Given the description of an element on the screen output the (x, y) to click on. 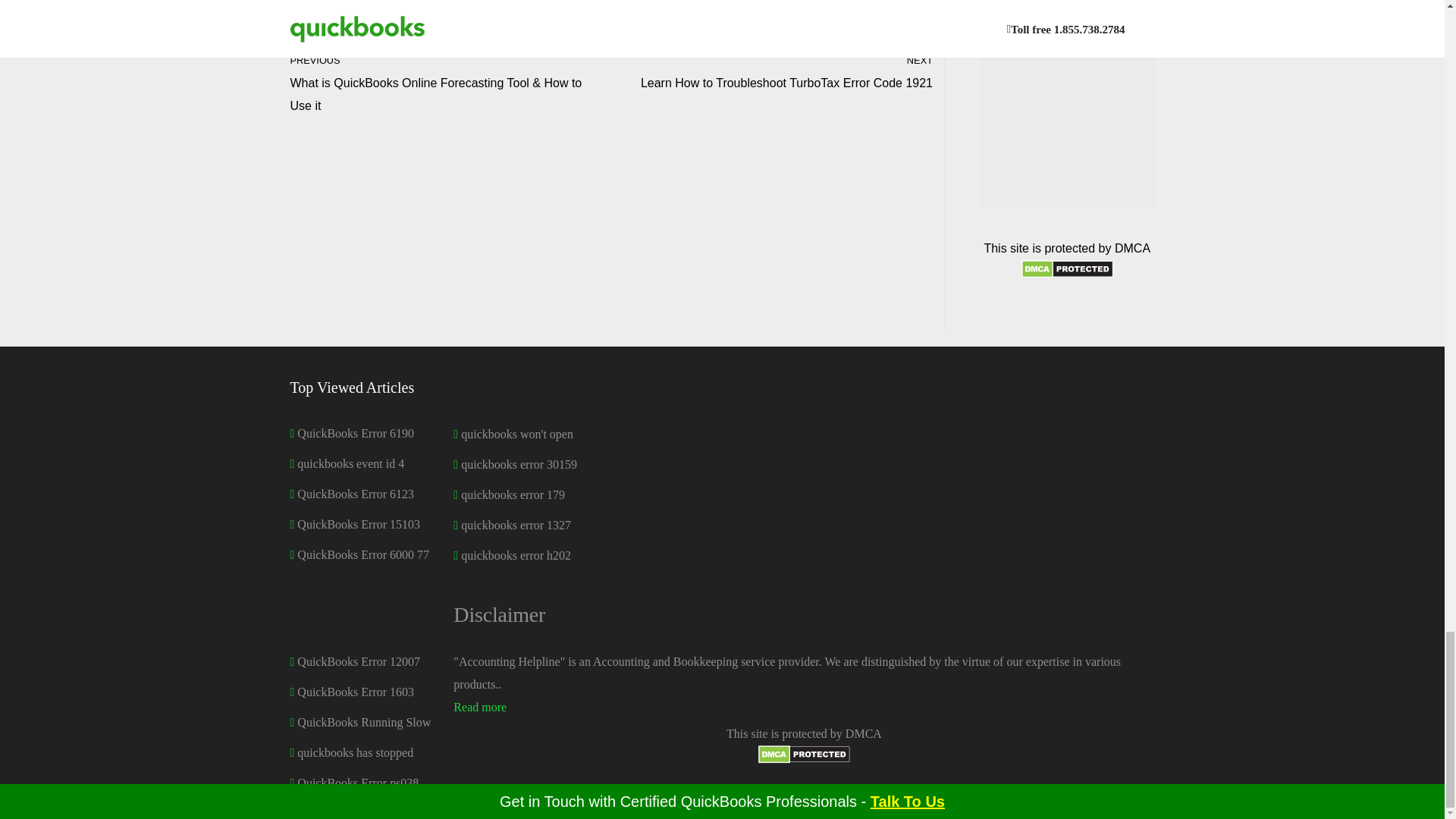
DMCA.com Protection Status (804, 758)
QuickBooks Error 6123 (355, 493)
QuickBooks Error 15103 (358, 523)
quickbooks event id 4 (350, 463)
QuickBooks Error 6190 (355, 432)
quickbooks error 179 (512, 494)
quickbooks error 30159 (518, 463)
DMCA.com Protection Status (1067, 273)
quickbooks error 1327 (515, 524)
QuickBooks Error 6000 77 (775, 72)
quickbooks error h202 (363, 554)
quickbooks won't open (515, 554)
